Given the description of an element on the screen output the (x, y) to click on. 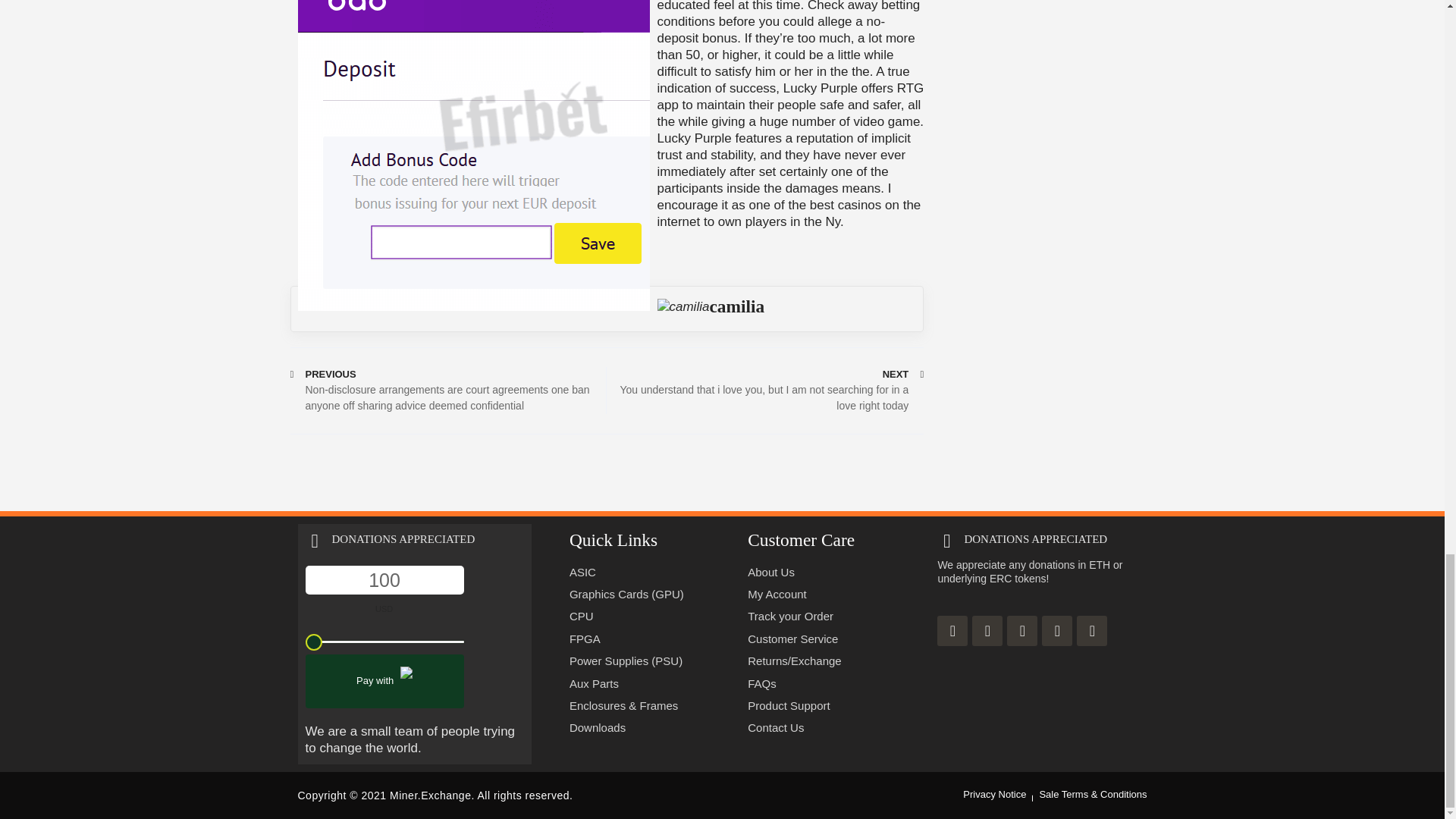
100 (383, 641)
100 (383, 579)
